Given the description of an element on the screen output the (x, y) to click on. 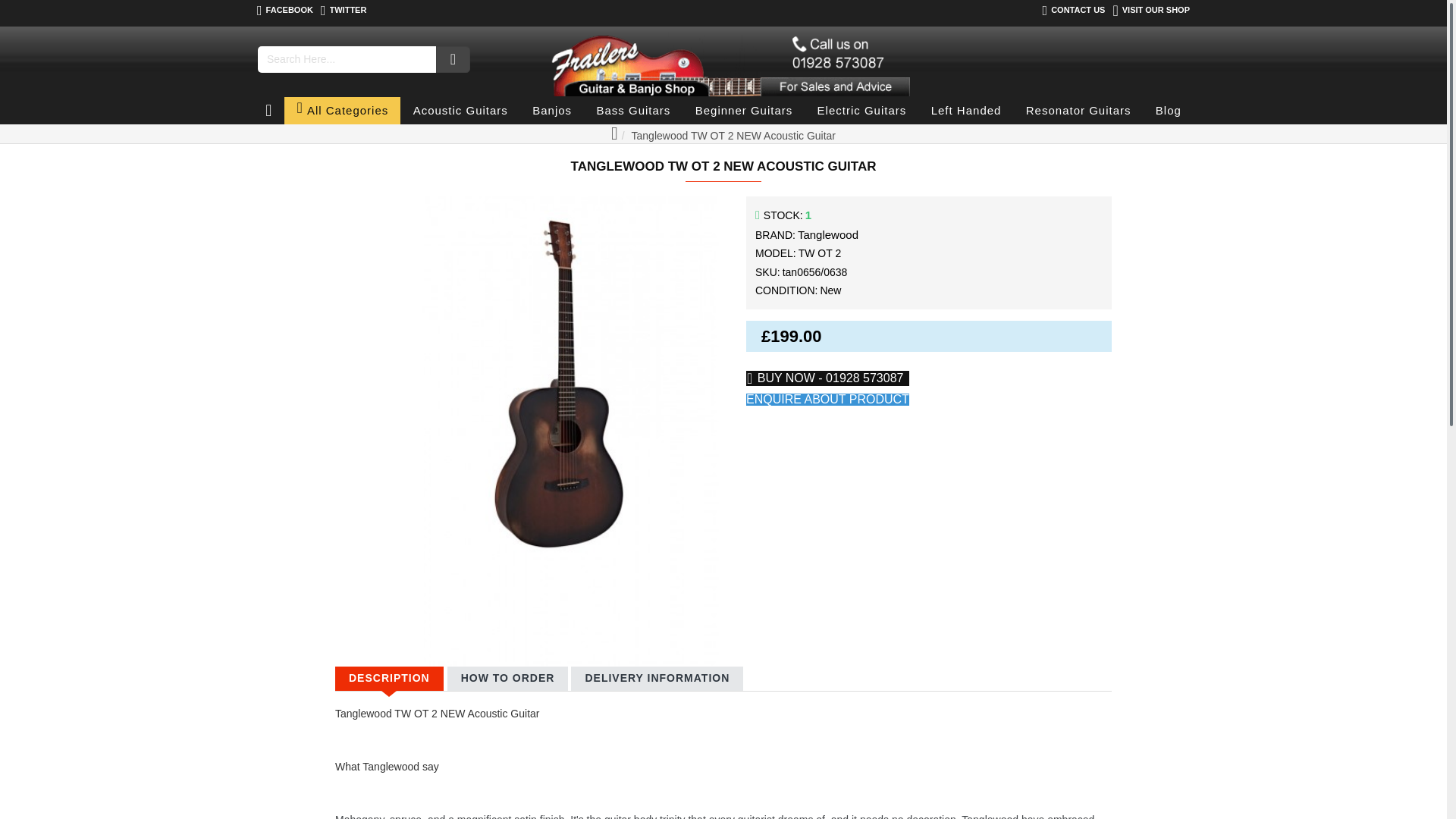
Frailers Guitar and Banjo Shop (726, 61)
All Categories (341, 110)
VISIT OUR SHOP (1150, 10)
CONTACT US (1074, 10)
FACEBOOK (285, 10)
TWITTER (343, 10)
